Given the description of an element on the screen output the (x, y) to click on. 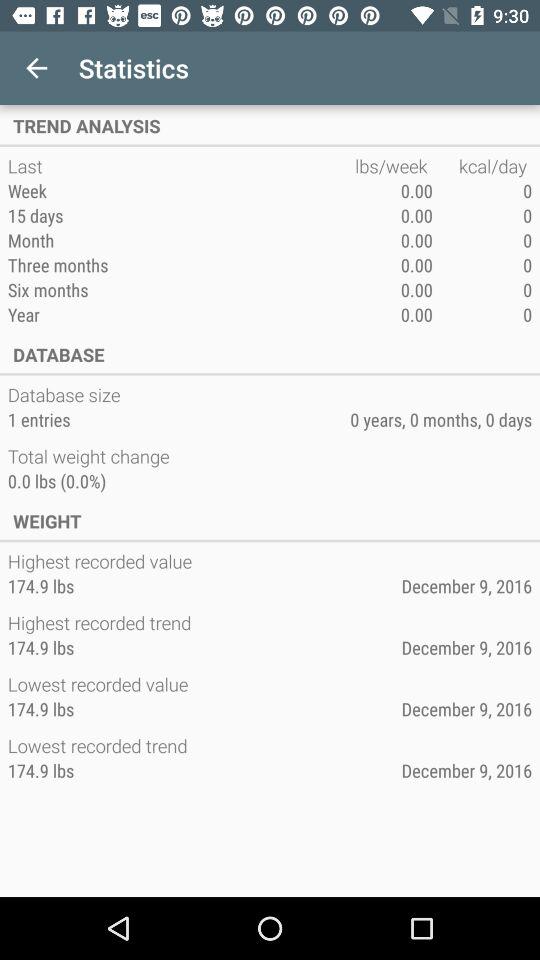
open item above the last item (270, 126)
